Given the description of an element on the screen output the (x, y) to click on. 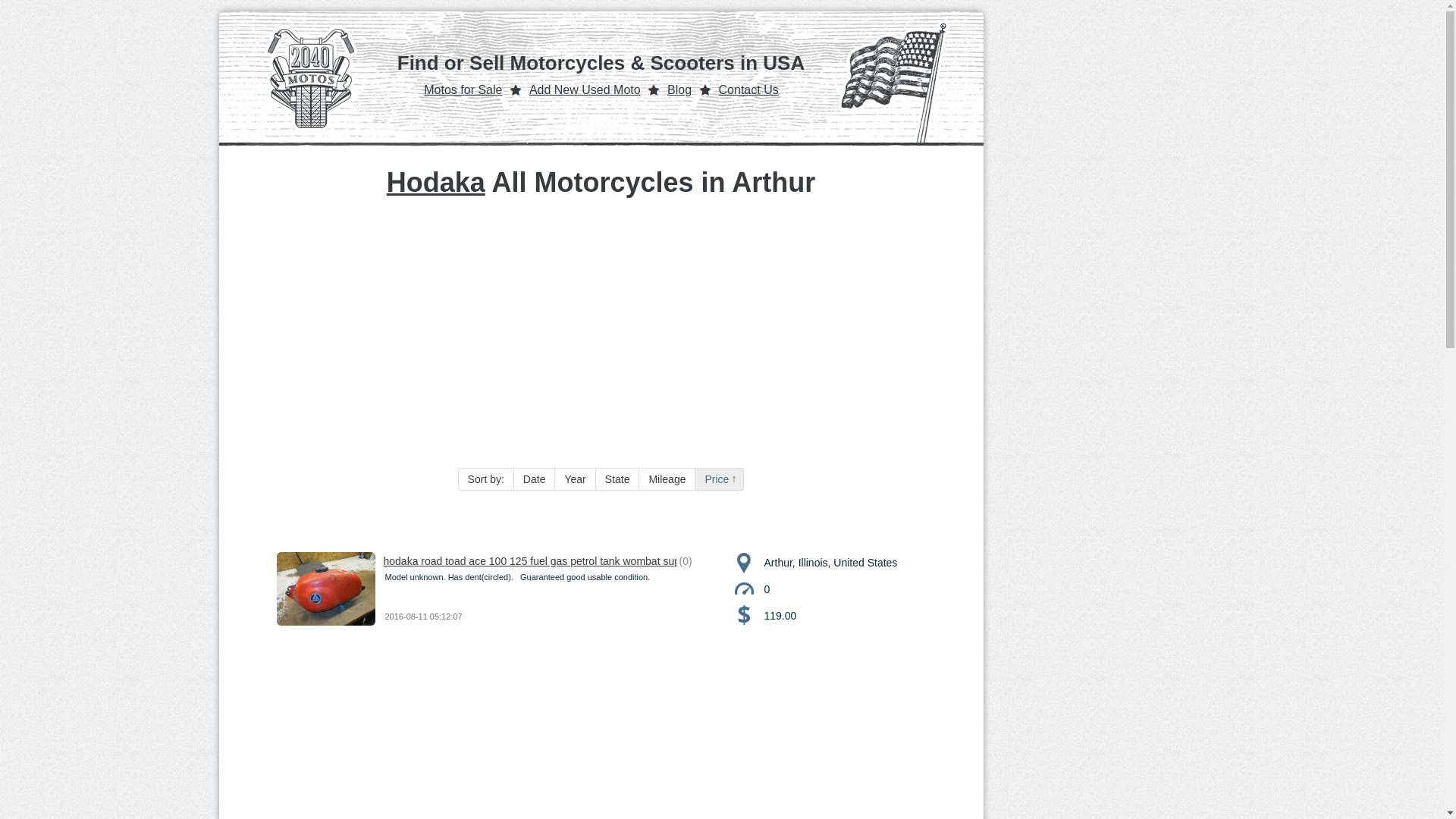
Hodaka (435, 182)
Date (534, 478)
Mileage (667, 478)
Motos for Sale (462, 89)
State (617, 478)
Add New Used Moto (584, 89)
Year (574, 478)
Sort by: (485, 478)
Price (719, 478)
Blog (678, 89)
Advertisement (600, 751)
Contact Us (748, 89)
